Given the description of an element on the screen output the (x, y) to click on. 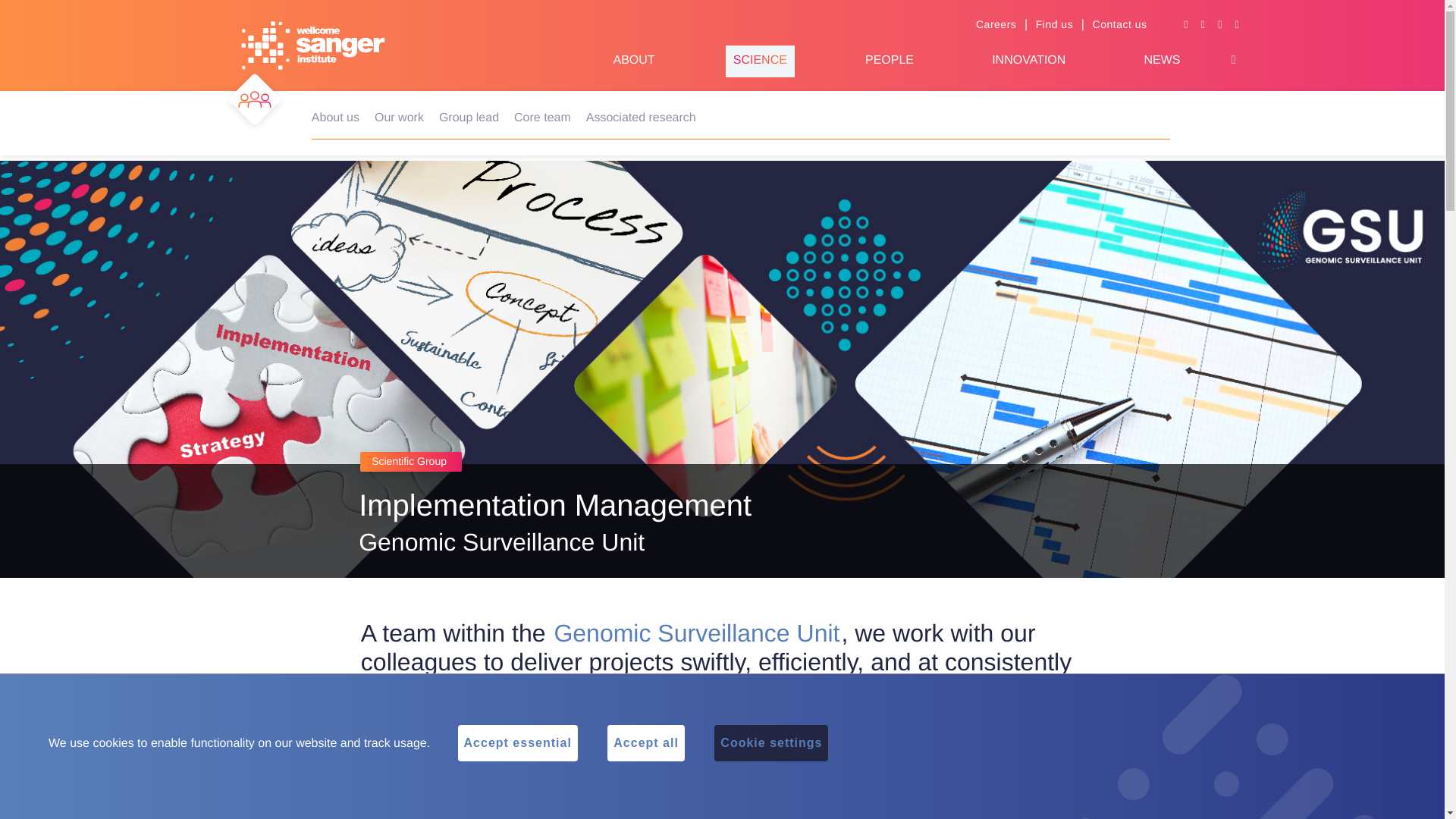
news (1160, 60)
SCIENCE (760, 60)
Careers (995, 24)
Accept all (645, 742)
PEOPLE (889, 60)
about (632, 60)
Find us (1053, 24)
Contact us (1119, 24)
innovation (1028, 60)
